Given the description of an element on the screen output the (x, y) to click on. 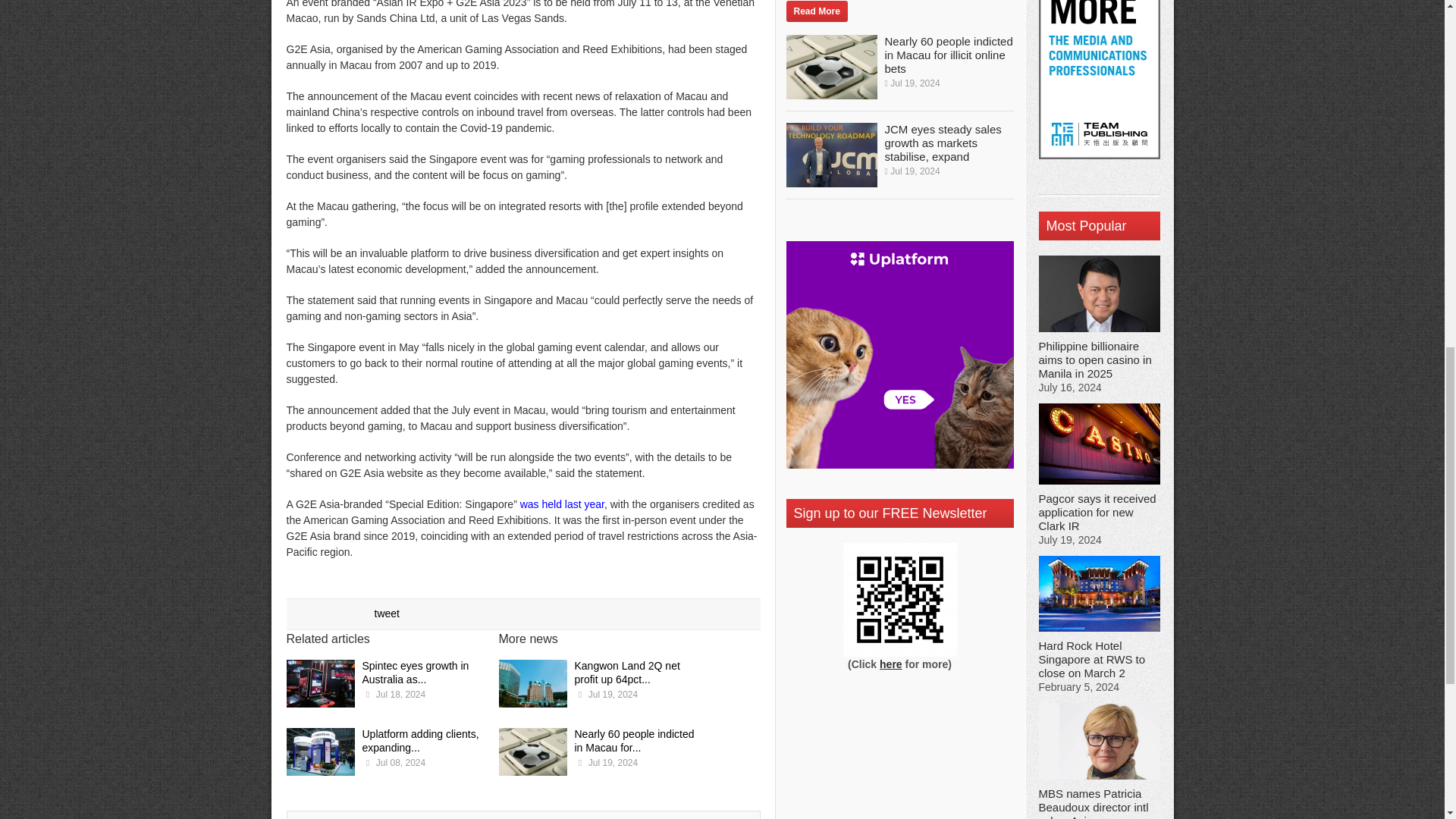
was held last year (561, 503)
Nearly 60 people indicted in Macau for illicit online bets (533, 754)
Kangwon Land 2Q net profit up 64pct... (627, 672)
tweet (386, 613)
Spintec eyes growth in Australia as... (415, 672)
Nearly 60 people indicted in Macau for... (634, 740)
Spintec eyes growth in Australia as more products certified (320, 685)
Uplatform adding clients, expanding team: marketing head (320, 754)
Uplatform adding clients, expanding... (420, 740)
